Given the description of an element on the screen output the (x, y) to click on. 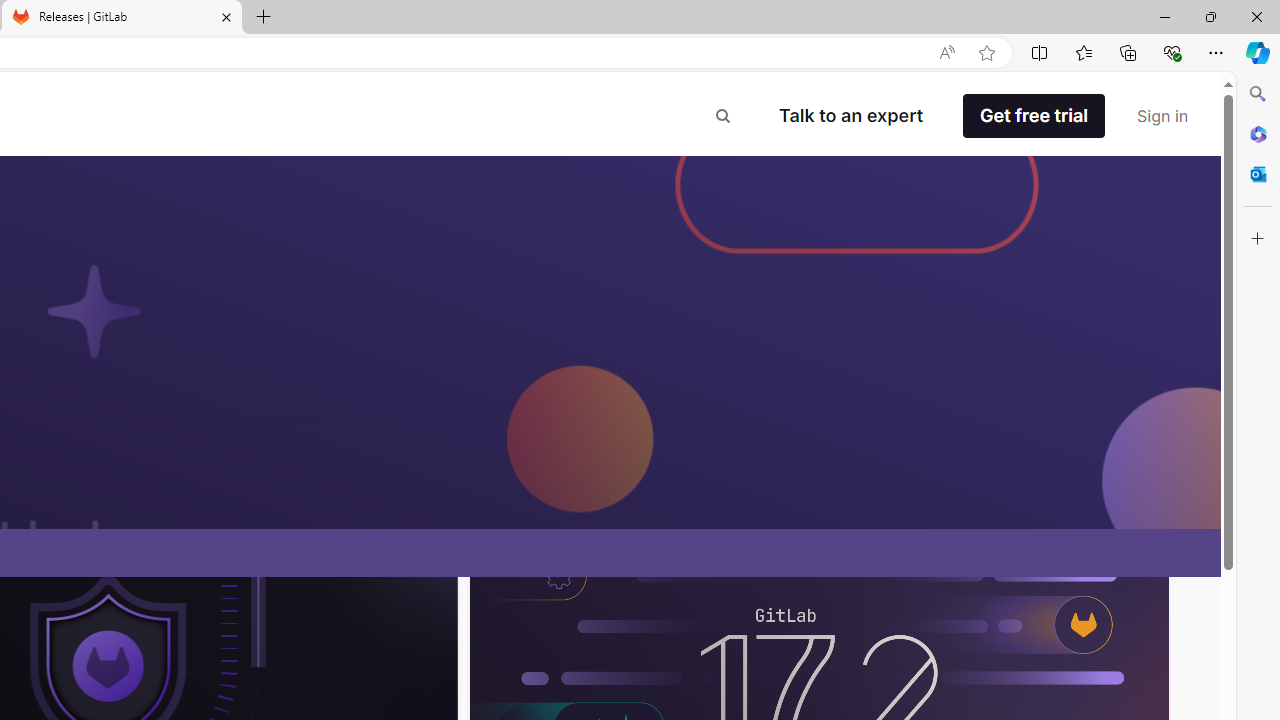
Sign in (1162, 115)
